Given the description of an element on the screen output the (x, y) to click on. 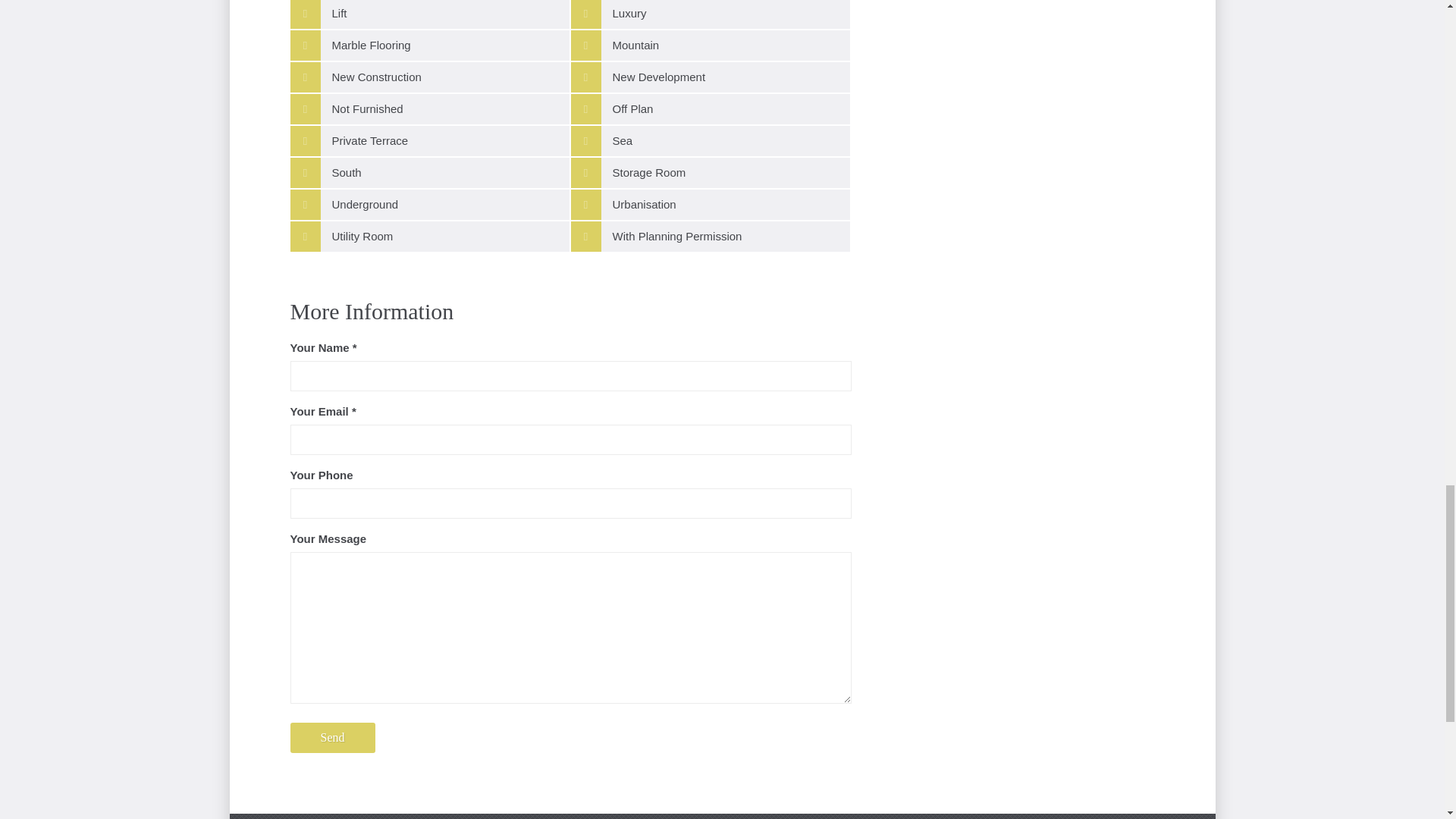
Send (331, 737)
